Given the description of an element on the screen output the (x, y) to click on. 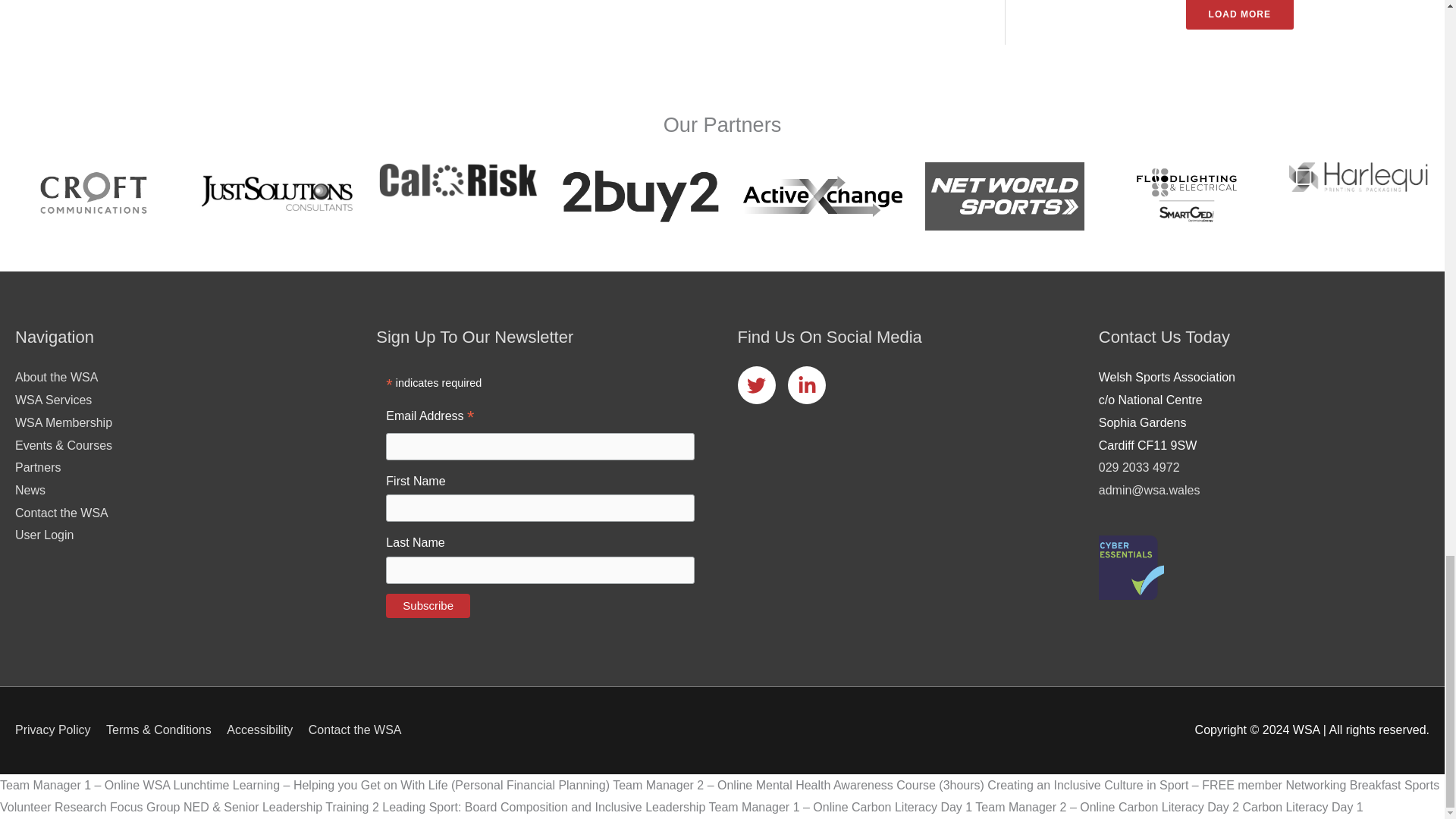
Subscribe (427, 605)
